Given the description of an element on the screen output the (x, y) to click on. 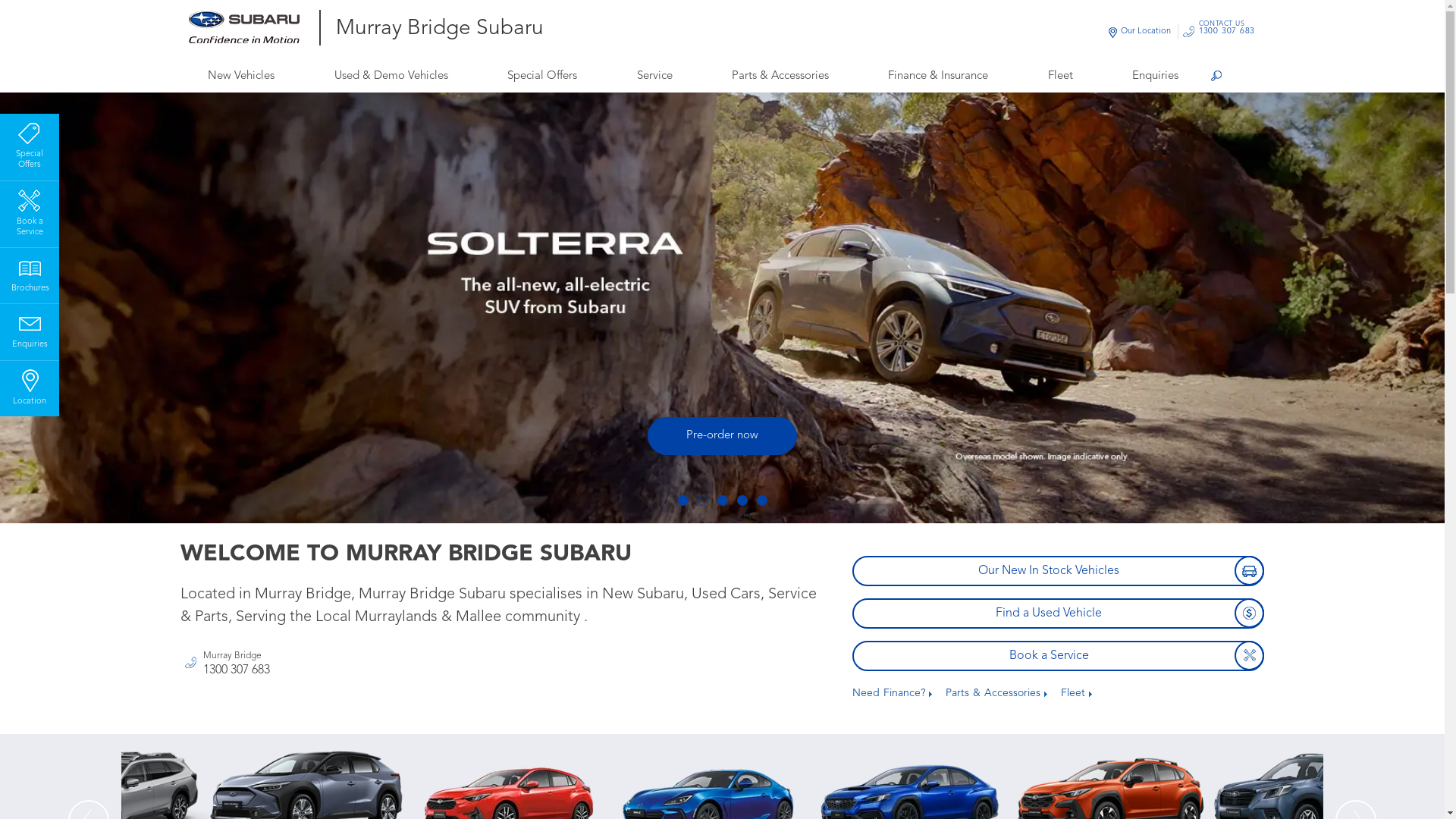
Murray Bridge Subaru Element type: hover (254, 27)
Special Offers Element type: text (541, 76)
Murray Bridge Subaru Element type: text (438, 29)
Service Element type: text (654, 76)
Book a Service Element type: text (1058, 655)
Book a Service Element type: text (29, 211)
Parts & Accessories Element type: text (996, 693)
Special Offers Element type: text (29, 144)
Location Element type: text (29, 385)
Our New In Stock Vehicles Element type: text (1058, 570)
Find a Used Vehicle Element type: text (1058, 613)
Finance & Insurance Element type: text (938, 76)
Search Element type: text (1215, 76)
Our Location Element type: text (1145, 31)
Enquiries Element type: text (1155, 76)
CONTACT US
1300 307 683 Element type: text (1226, 31)
Used & Demo Vehicles Element type: text (390, 76)
New Vehicles Element type: text (241, 76)
Brochures Element type: text (29, 272)
Parts & Accessories Element type: text (779, 76)
Fleet Element type: text (1059, 76)
Enquiries Element type: text (29, 328)
Fleet Element type: text (1076, 693)
Need Finance? Element type: text (891, 693)
